Given the description of an element on the screen output the (x, y) to click on. 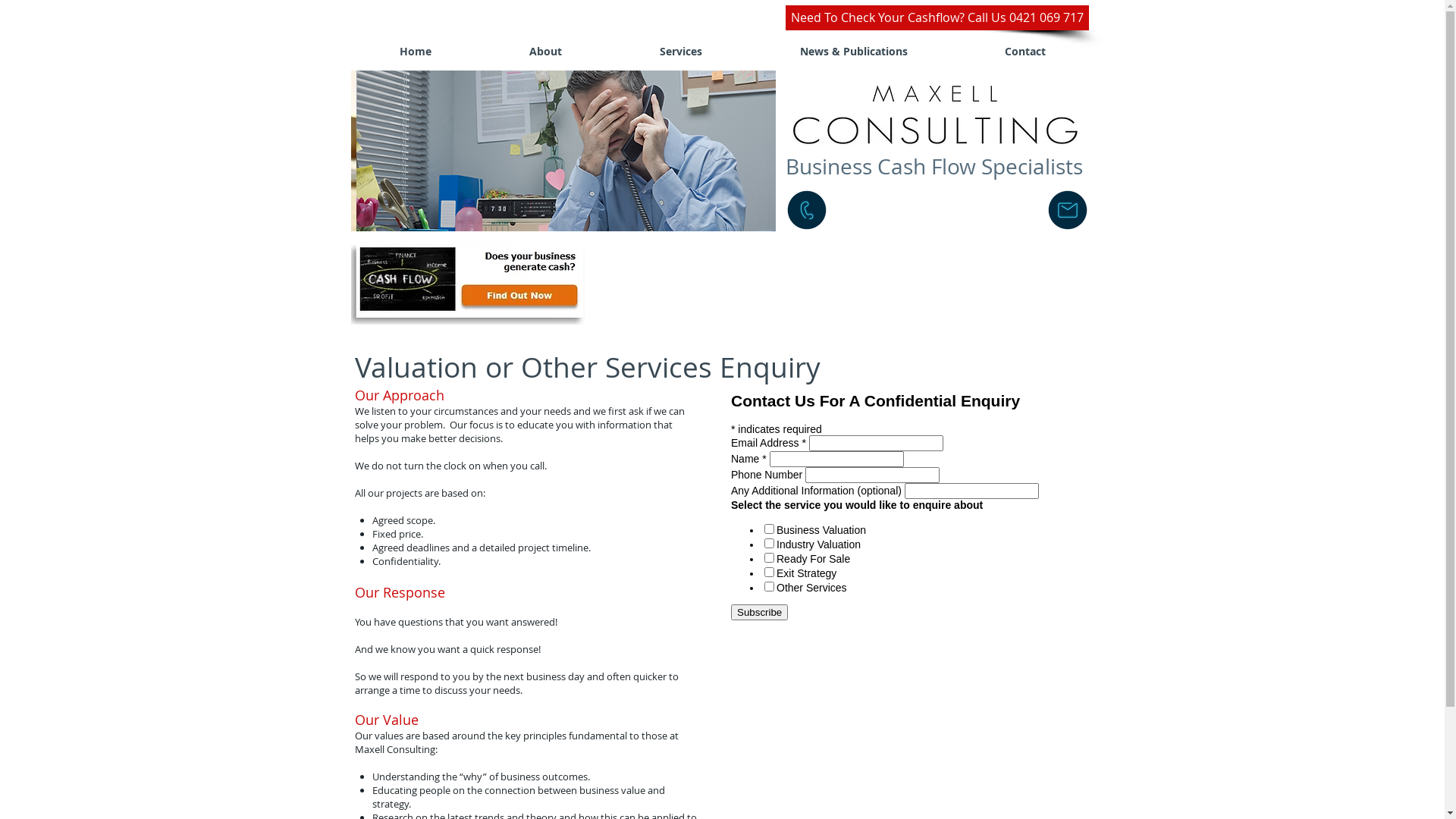
About Element type: text (545, 50)
Home Element type: text (415, 50)
Services Element type: text (681, 50)
Need To Check Your Cashflow? Call Us 0421 069 717 Element type: text (936, 17)
Generate Cash.jpg Element type: hover (469, 282)
News & Publications Element type: text (852, 50)
Contact Element type: text (1024, 50)
